Given the description of an element on the screen output the (x, y) to click on. 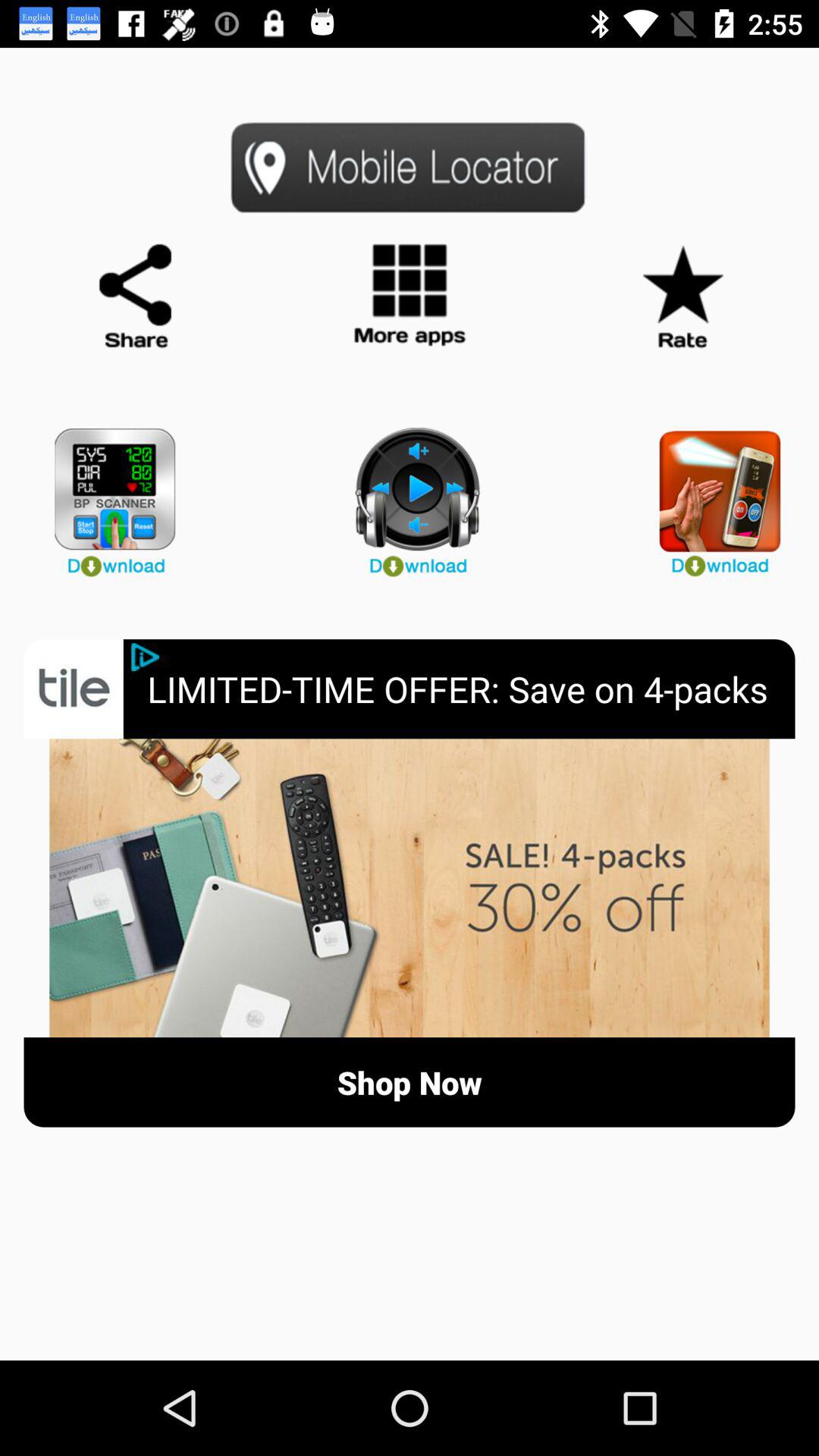
open the limited time offer item (471, 688)
